Given the description of an element on the screen output the (x, y) to click on. 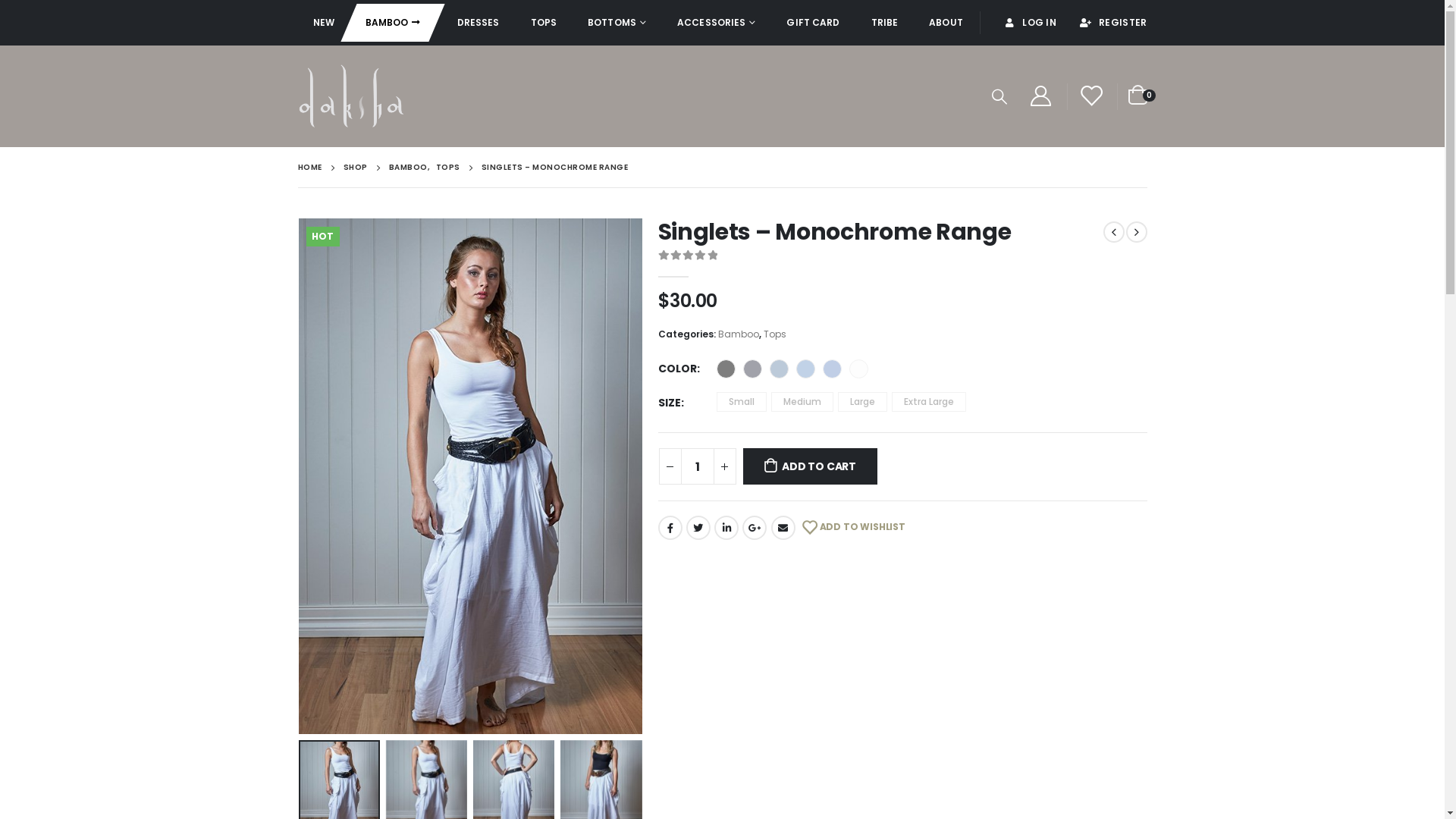
TOPS Element type: text (447, 167)
TRIBE Element type: text (884, 22)
Silver Element type: text (805, 368)
DRESSES Element type: text (478, 22)
BAMBOO Element type: text (407, 167)
Large Element type: text (861, 401)
Slate Element type: text (831, 368)
ADD TO WISHLIST Element type: text (853, 527)
REGISTER Element type: text (1106, 22)
Daksha - Ethical Style Element type: hover (350, 96)
Twitter Element type: text (698, 527)
HOME Element type: text (309, 167)
ACCESSORIES Element type: text (716, 22)
+ Element type: text (723, 466)
LOG IN Element type: text (1029, 22)
Extra Large Element type: text (928, 401)
Email Element type: text (783, 527)
SHOP Element type: text (354, 167)
mercy_1115_4B_2498.jpg Element type: hover (470, 476)
White Element type: text (858, 368)
Black Element type: text (724, 368)
NEW Element type: text (322, 22)
Facebook Element type: text (670, 527)
BAMBOO Element type: text (392, 22)
My Account Element type: hover (1041, 96)
ADD TO CART Element type: text (810, 466)
Wishlist Element type: hover (1090, 96)
Bamboo Element type: text (737, 334)
ABOUT Element type: text (945, 22)
Google + Element type: text (754, 527)
TOPS Element type: text (543, 22)
Tops Element type: text (773, 334)
Quail Element type: text (777, 368)
LinkedIn Element type: text (726, 527)
Medium Element type: text (801, 401)
Charcoal Element type: text (752, 368)
GIFT CARD Element type: text (812, 22)
BOTTOMS Element type: text (616, 22)
- Element type: text (669, 466)
Small Element type: text (740, 401)
